Given the description of an element on the screen output the (x, y) to click on. 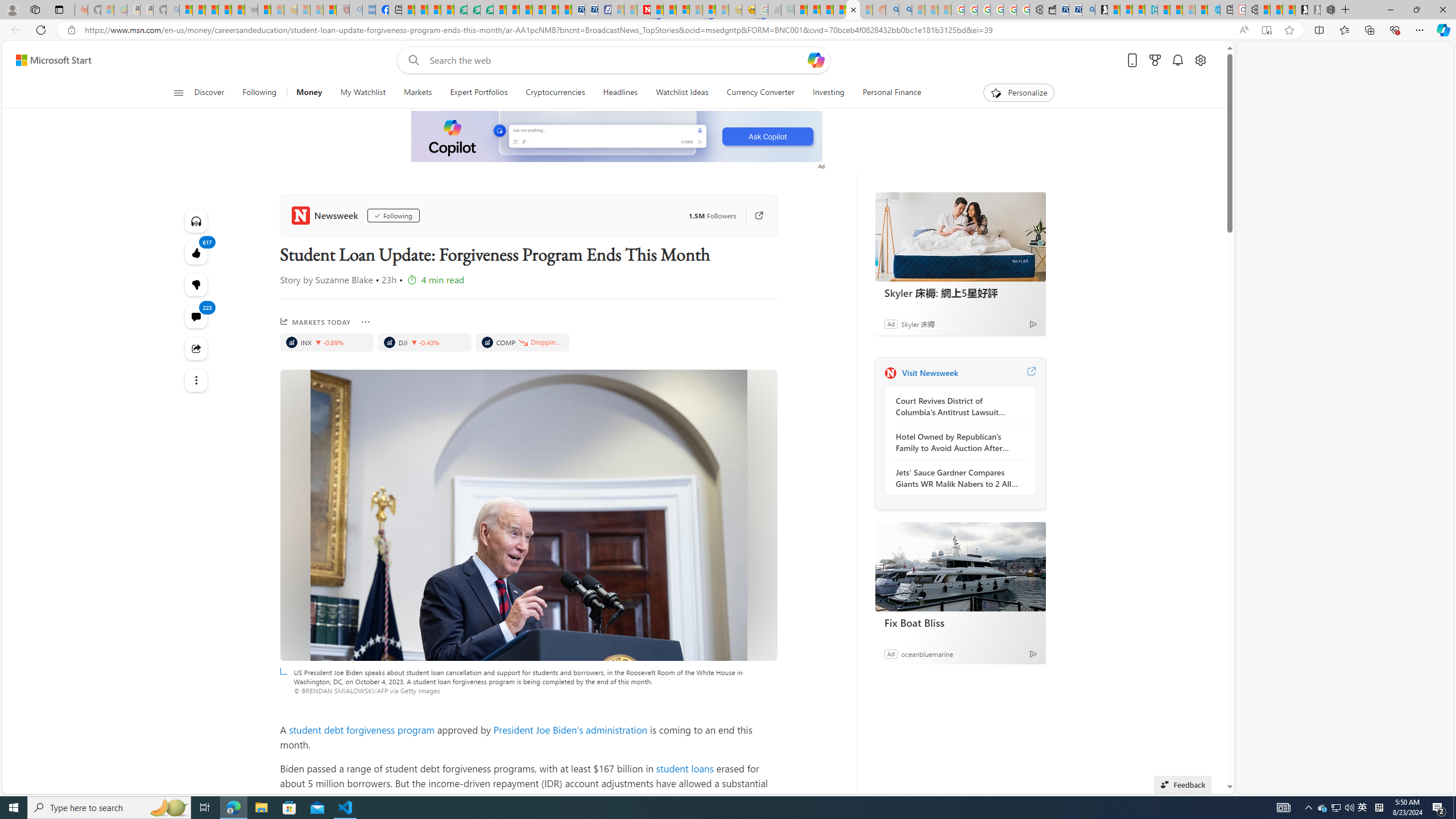
To get missing image descriptions, open the context menu. (617, 136)
Currency Converter (760, 92)
My Watchlist (362, 92)
Latest Politics News & Archive | Newsweek.com (643, 9)
Microsoft-Report a Concern to Bing - Sleeping (107, 9)
Nordace - Nordace Siena Is Not An Ordinary Backpack (1327, 9)
